Given the description of an element on the screen output the (x, y) to click on. 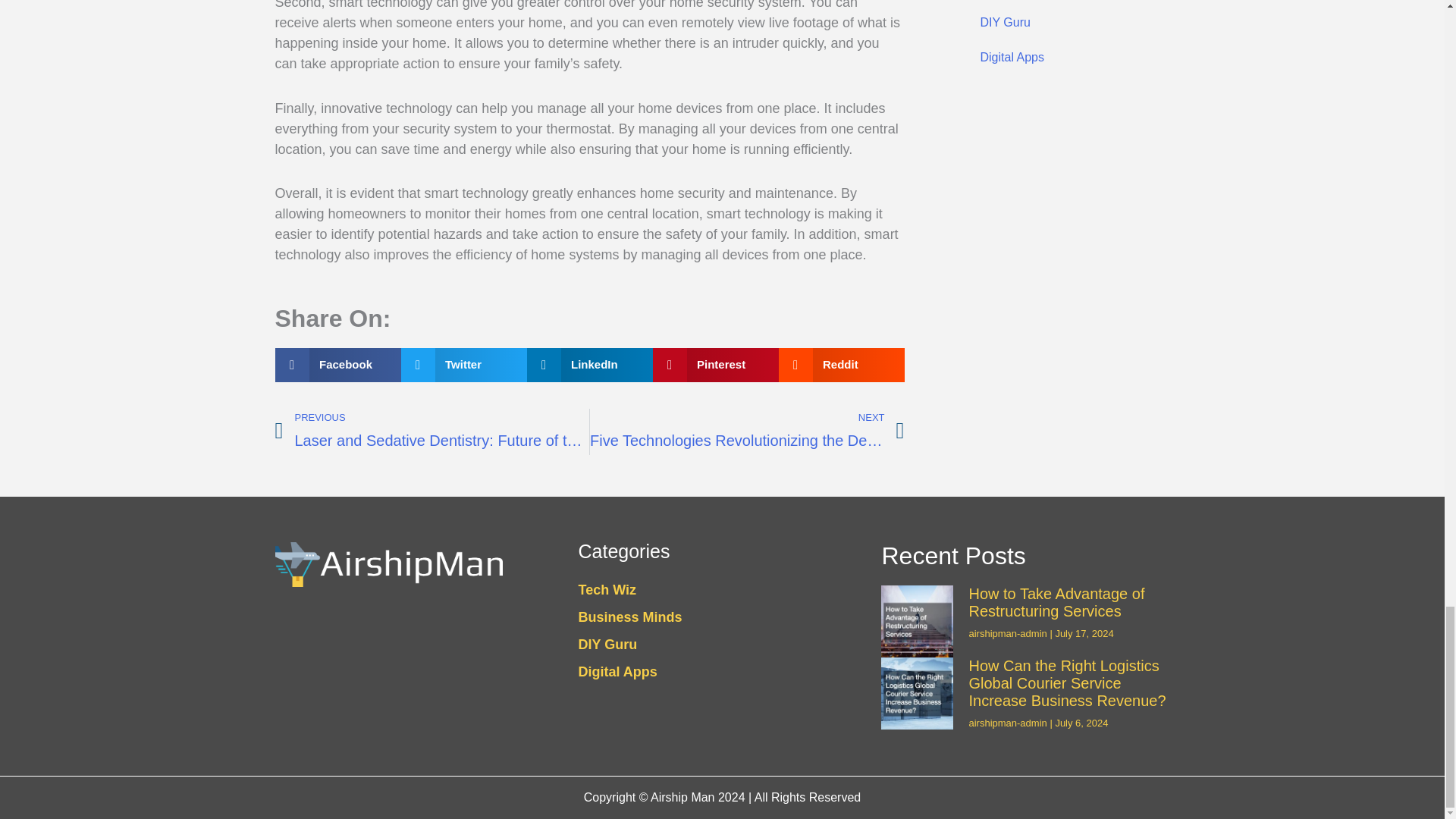
Tech Wiz (722, 589)
Business Minds (1062, 2)
Digital Apps (1062, 57)
DIY Guru (1062, 22)
